Given the description of an element on the screen output the (x, y) to click on. 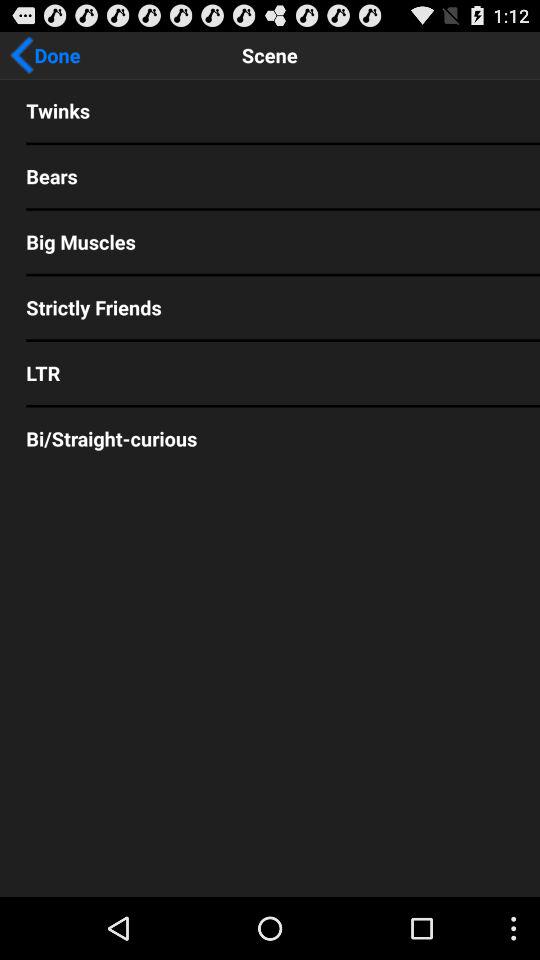
scroll until bi/straight-curious item (270, 438)
